Given the description of an element on the screen output the (x, y) to click on. 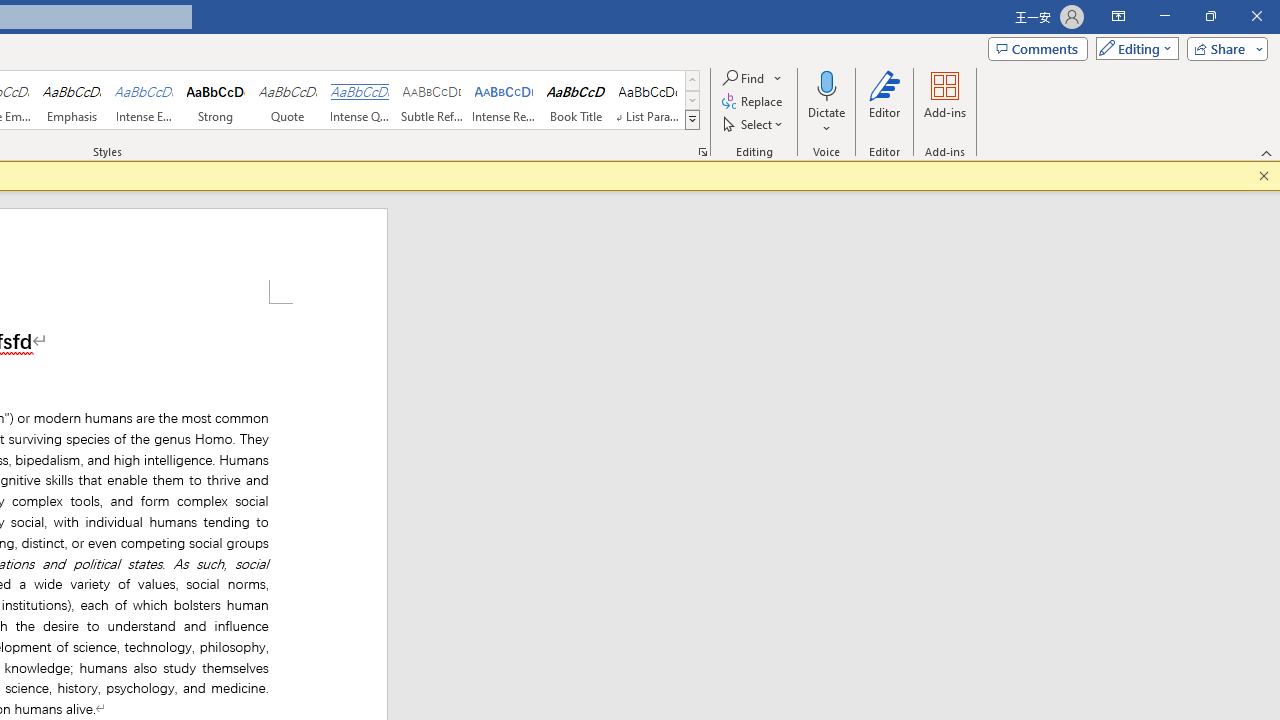
Quote (287, 100)
Close this message (1263, 176)
Intense Reference (504, 100)
Intense Emphasis (143, 100)
